Given the description of an element on the screen output the (x, y) to click on. 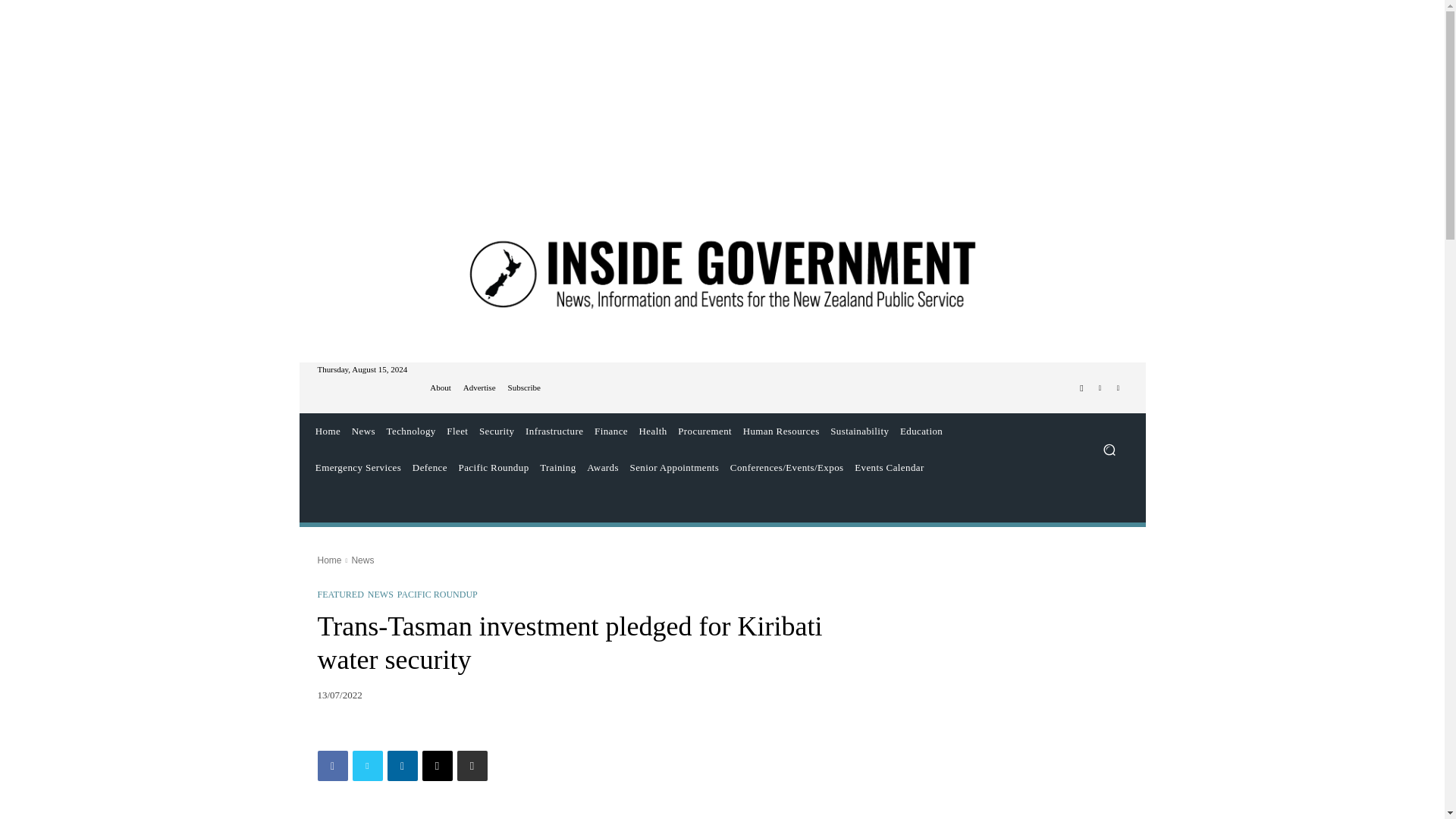
About (440, 388)
Health (652, 431)
Technology (410, 431)
Print (471, 766)
Infrastructure (554, 431)
Finance (611, 431)
Subscribe (524, 388)
Twitter (1099, 388)
Twitter (366, 766)
